Given the description of an element on the screen output the (x, y) to click on. 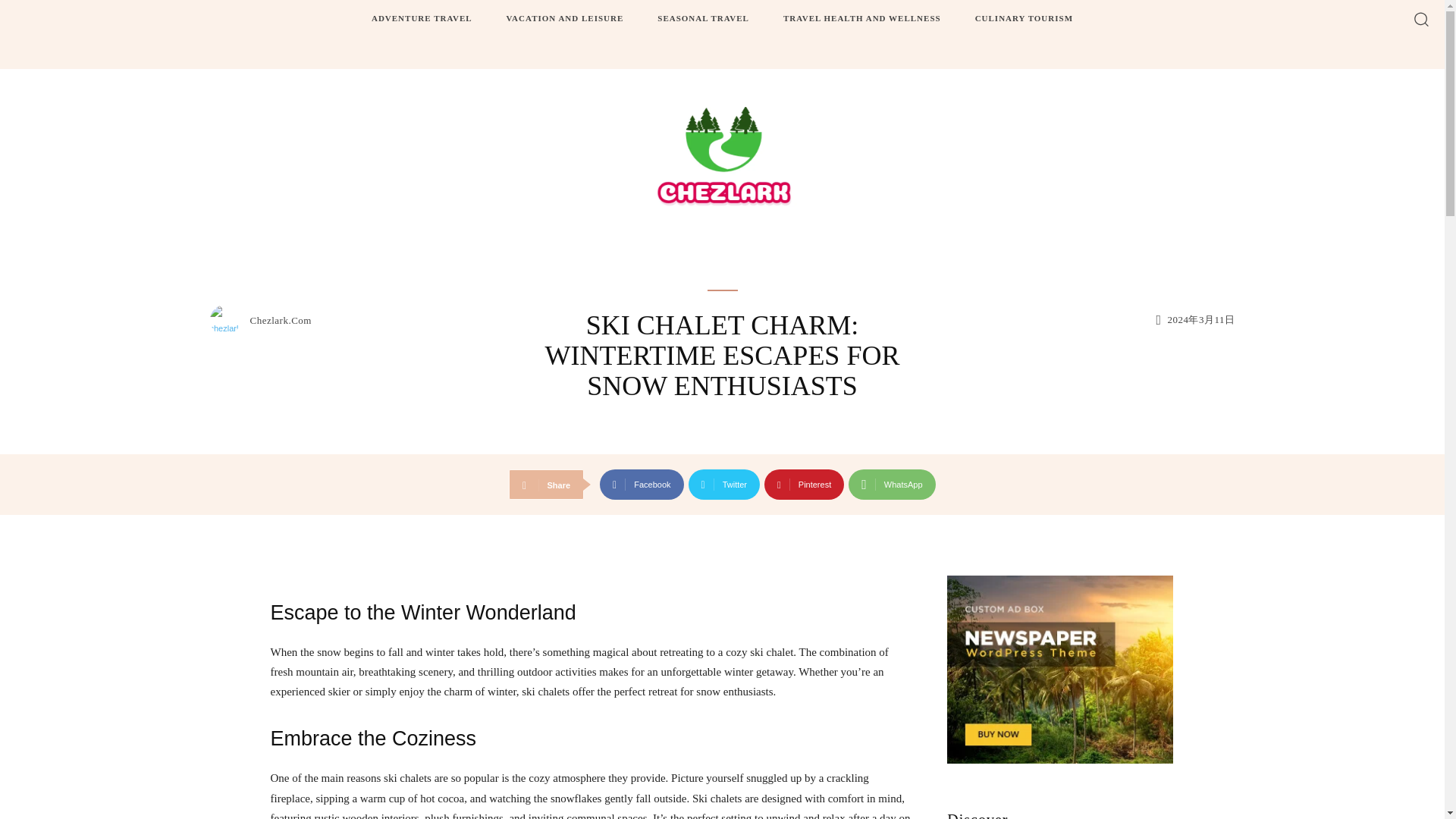
Twitter (724, 484)
WhatsApp (891, 484)
SEASONAL TRAVEL (703, 18)
Facebook (640, 484)
Pinterest (804, 484)
TRAVEL HEALTH AND WELLNESS (862, 18)
WhatsApp (891, 484)
CULINARY TOURISM (1024, 18)
vacation and leisure (721, 268)
ADVENTURE TRAVEL (422, 18)
chezlark.com (228, 319)
Chezlark.Com (280, 320)
Pinterest (804, 484)
Facebook (640, 484)
VACATION AND LEISURE (565, 18)
